Given the description of an element on the screen output the (x, y) to click on. 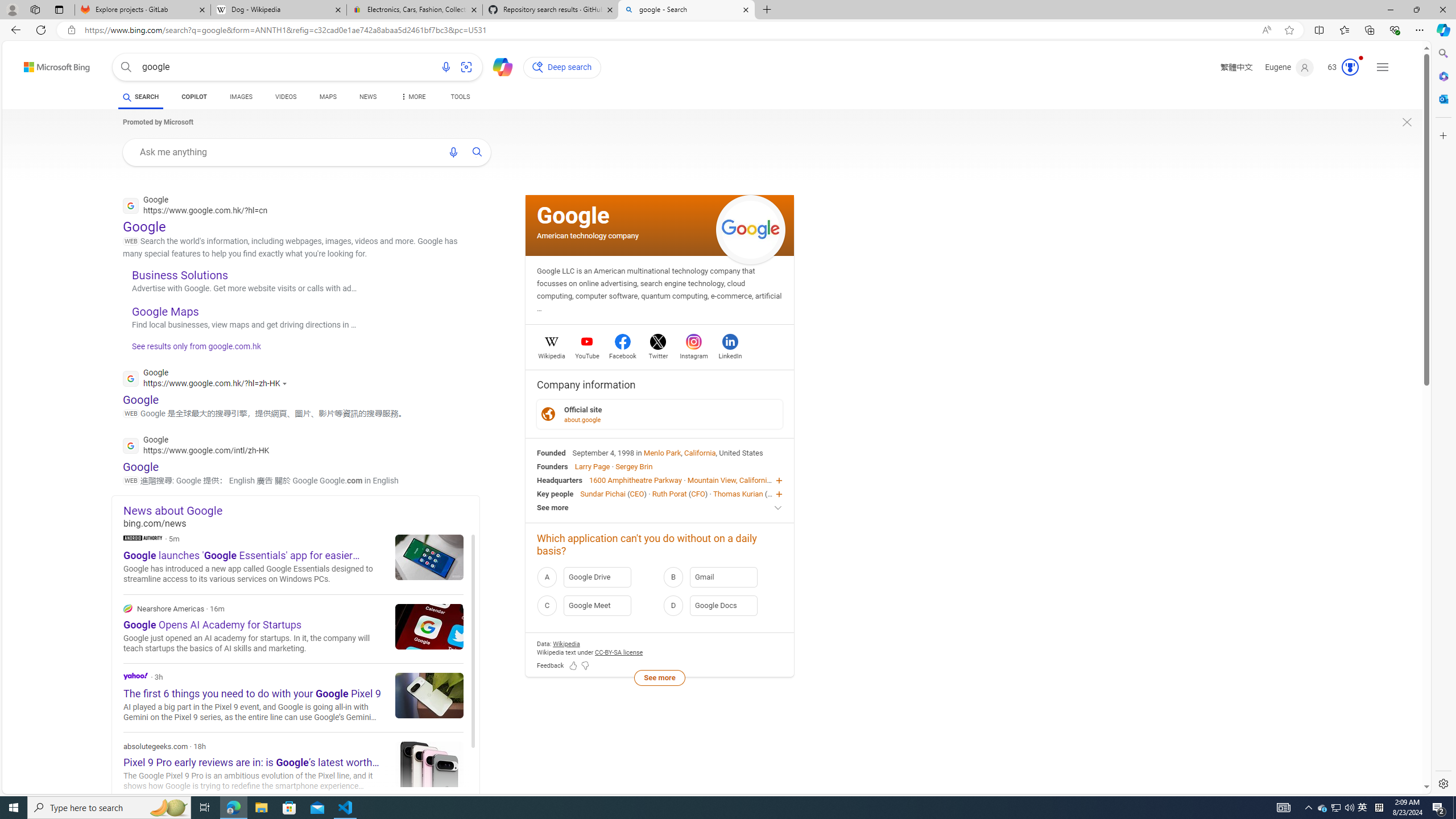
D Google Docs (722, 605)
Feedback Dislike (584, 665)
1600 Amphitheatre Parkway (635, 479)
Ask me anything (285, 151)
Back to Bing search (50, 64)
Yahoo (135, 675)
Class: sp-ofsite (547, 414)
Menlo Park (662, 452)
Twitter (658, 354)
News about Google (301, 510)
Nearshore Americas (293, 628)
